Given the description of an element on the screen output the (x, y) to click on. 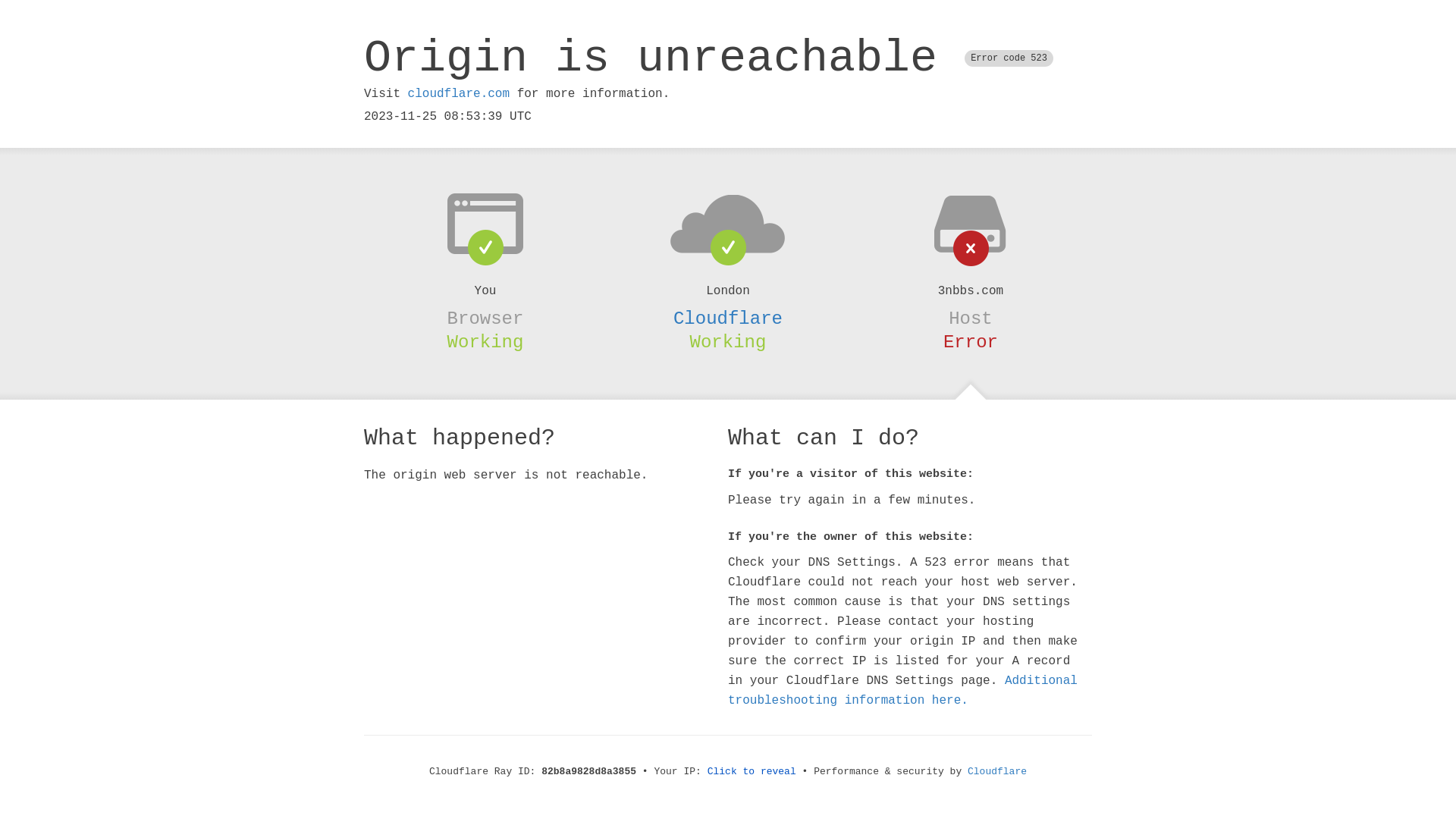
cloudflare.com Element type: text (458, 93)
Click to reveal Element type: text (751, 771)
Additional troubleshooting information here. Element type: text (902, 690)
Cloudflare Element type: text (996, 771)
Cloudflare Element type: text (727, 318)
